Given the description of an element on the screen output the (x, y) to click on. 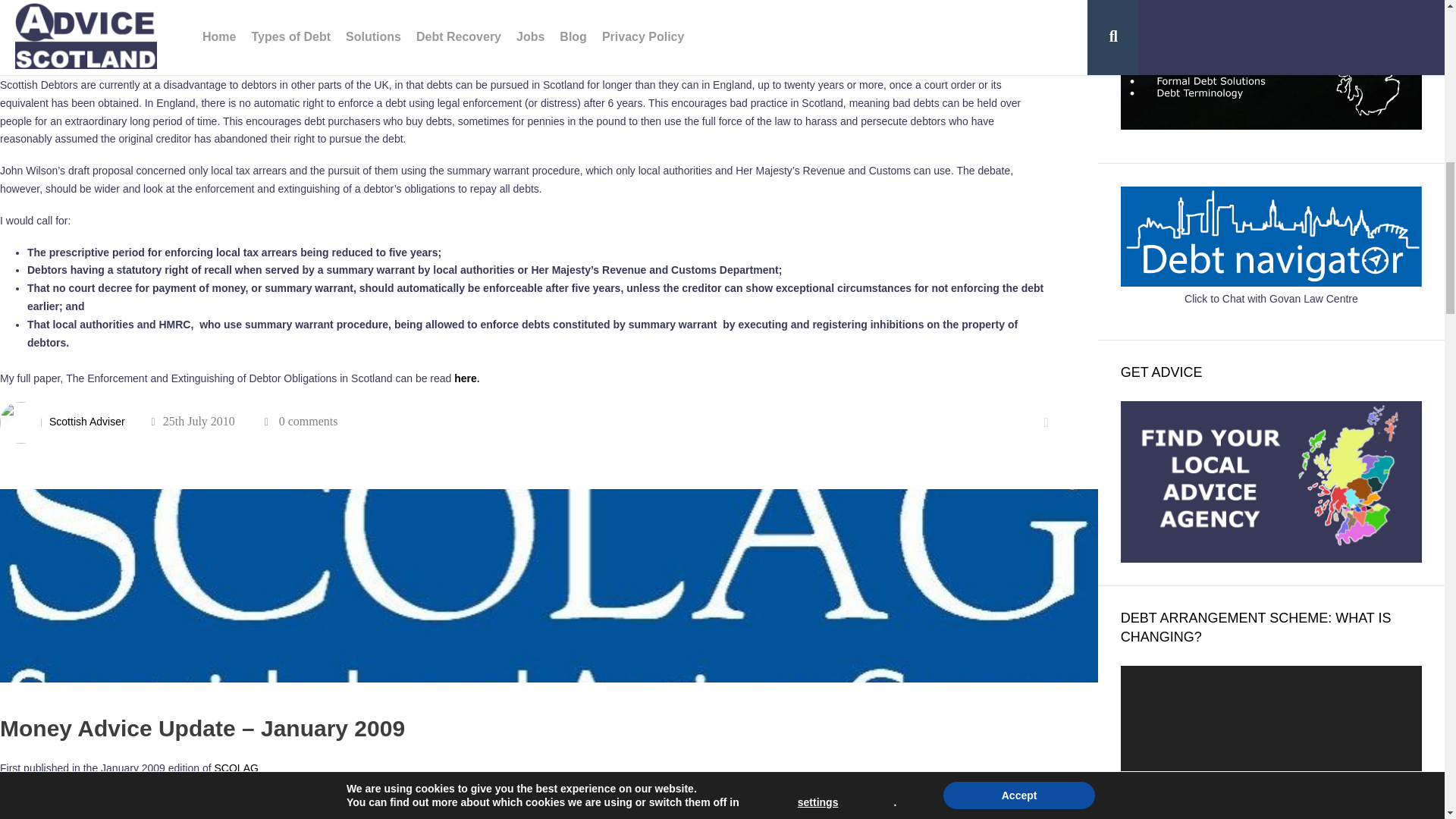
3:20 pm (192, 421)
View all posts by Scottish Adviser (87, 421)
